Given the description of an element on the screen output the (x, y) to click on. 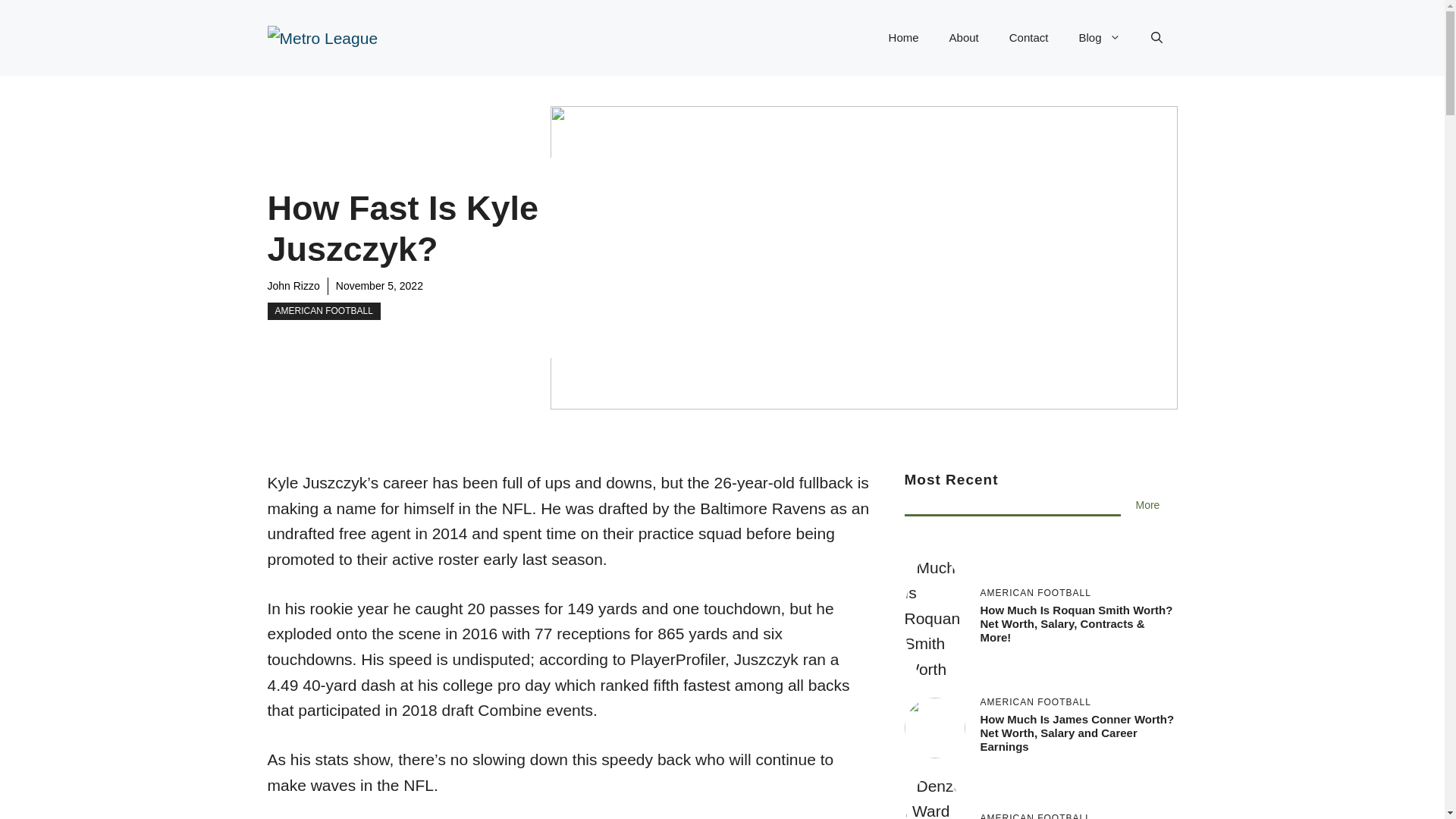
Home (903, 37)
More (1147, 504)
About (964, 37)
Contact (1029, 37)
John Rizzo (292, 285)
Blog (1098, 37)
AMERICAN FOOTBALL (323, 311)
